Given the description of an element on the screen output the (x, y) to click on. 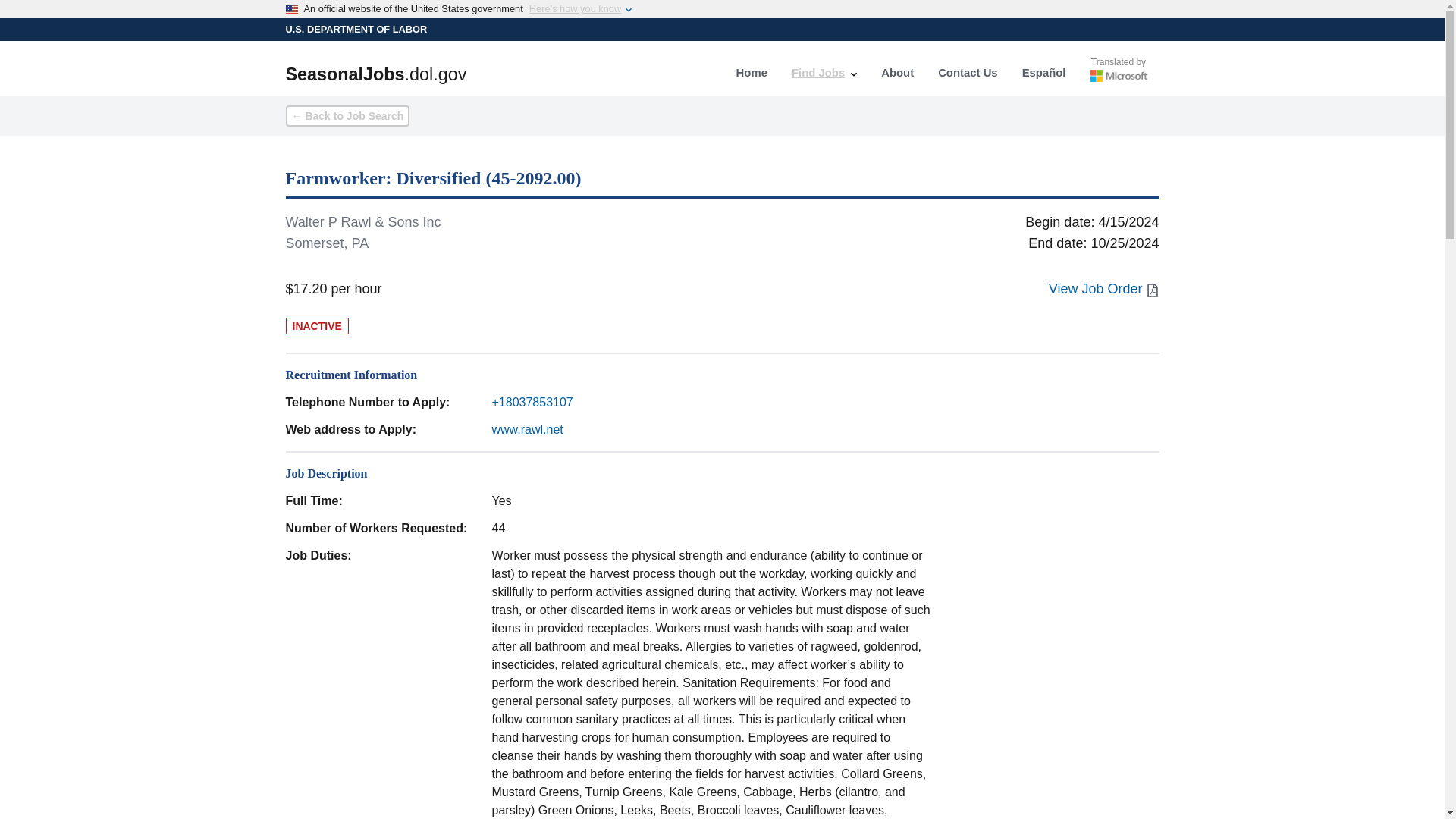
www.rawl.net (527, 429)
Contact Us (968, 73)
Find Jobs (823, 73)
View Job Order (1103, 288)
Translated by (1118, 72)
Home (750, 73)
About (897, 73)
